Given the description of an element on the screen output the (x, y) to click on. 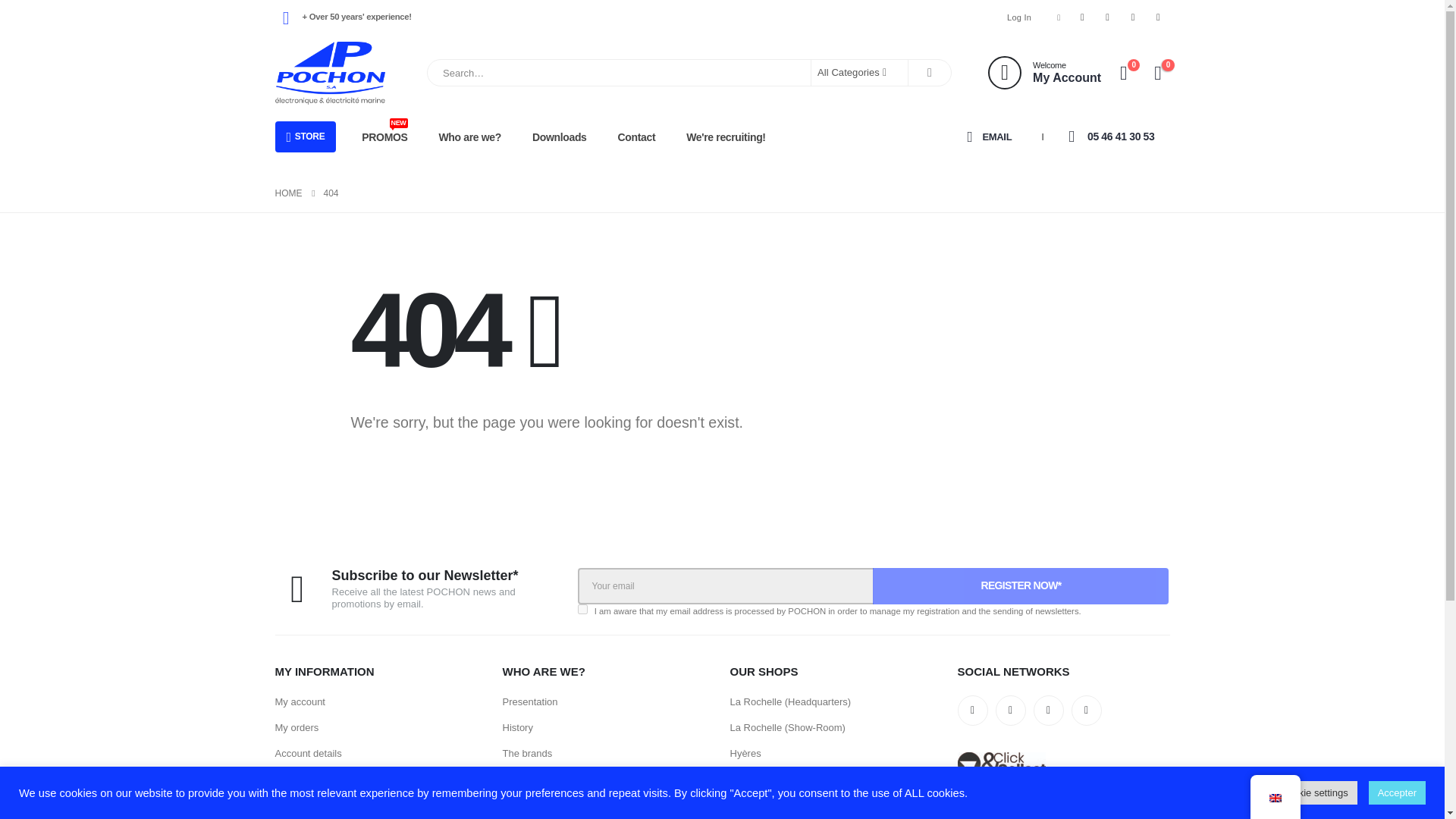
My account (1044, 72)
0 (1123, 73)
Youtube (1107, 16)
Log In (1018, 16)
Instagram (1132, 16)
POCHON - marine electronics and electricity (329, 72)
Facebook (1044, 72)
Search (1082, 16)
LinkedIn (929, 72)
Wishlist (1158, 16)
